Given the description of an element on the screen output the (x, y) to click on. 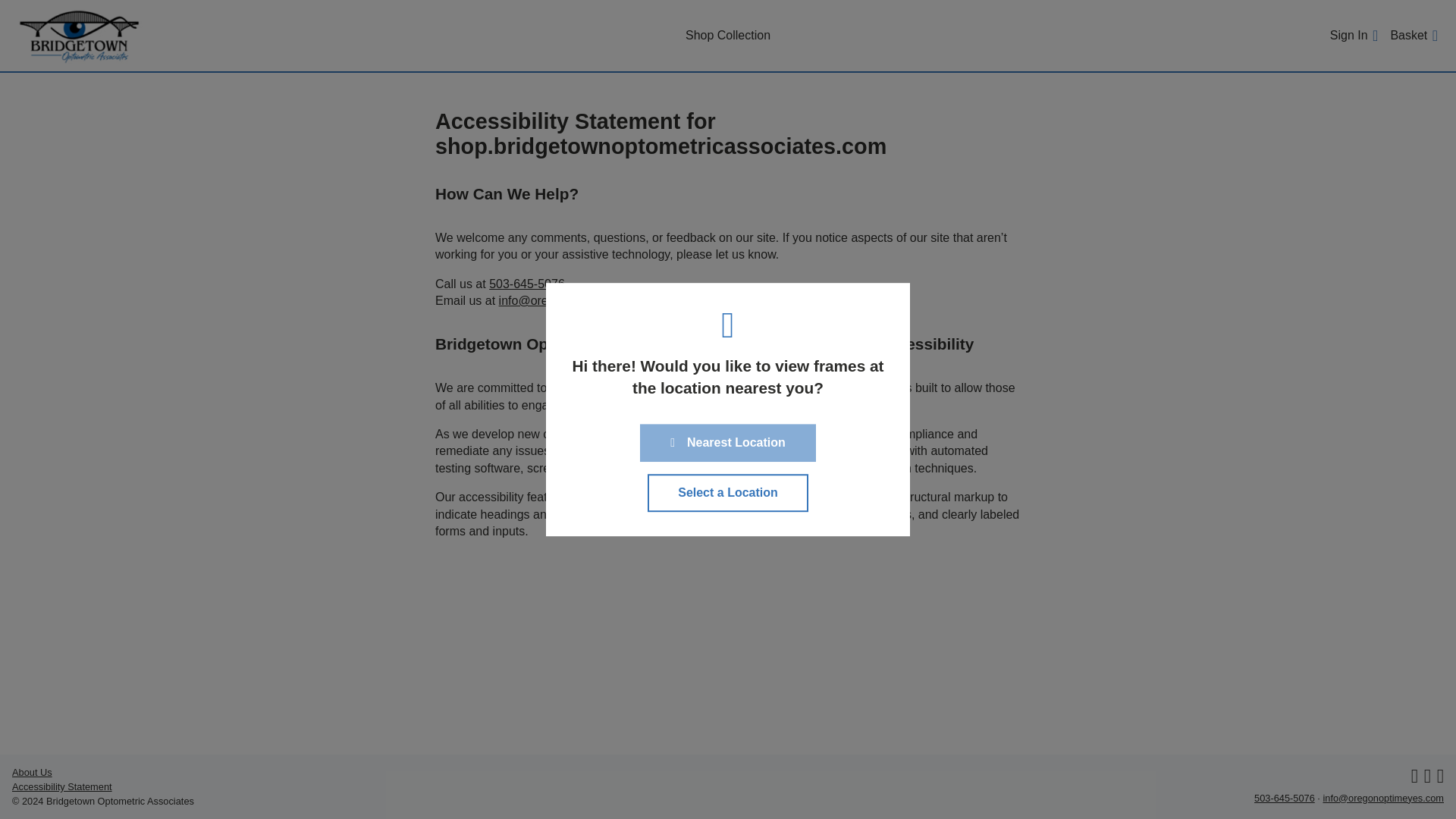
About Us (31, 772)
Accessibility Statement (61, 786)
503-645-5076 (526, 283)
Select a Location (727, 492)
503-645-5076 (1283, 797)
Nearest Location (727, 442)
Shop Collection (727, 35)
